Given the description of an element on the screen output the (x, y) to click on. 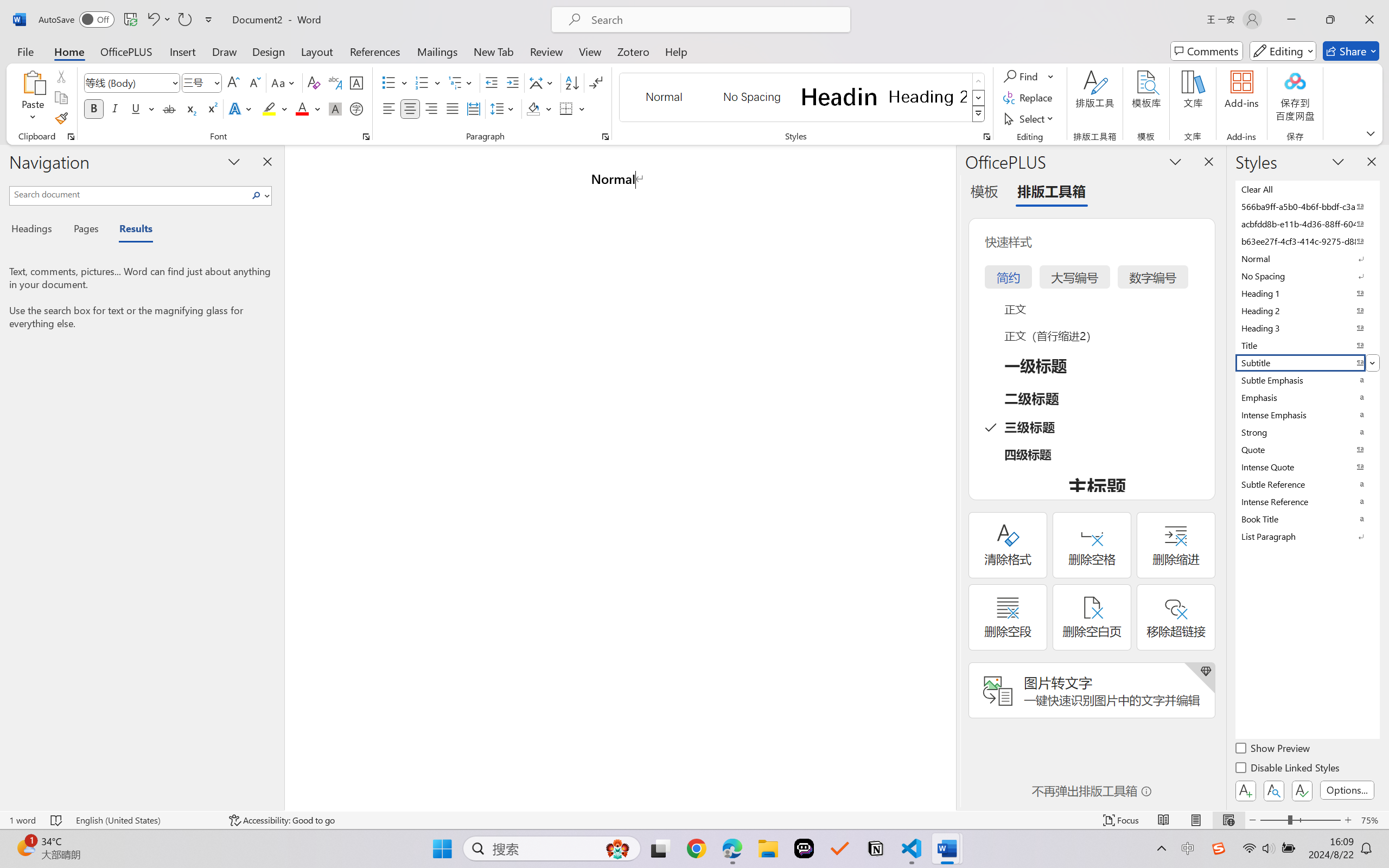
Web Layout (1228, 819)
Word Count 1 word (21, 819)
Phonetic Guide... (334, 82)
Subtle Emphasis (1306, 379)
Underline (142, 108)
Styles (978, 113)
Book Title (1306, 518)
Italic (115, 108)
Undo Style (158, 19)
